Given the description of an element on the screen output the (x, y) to click on. 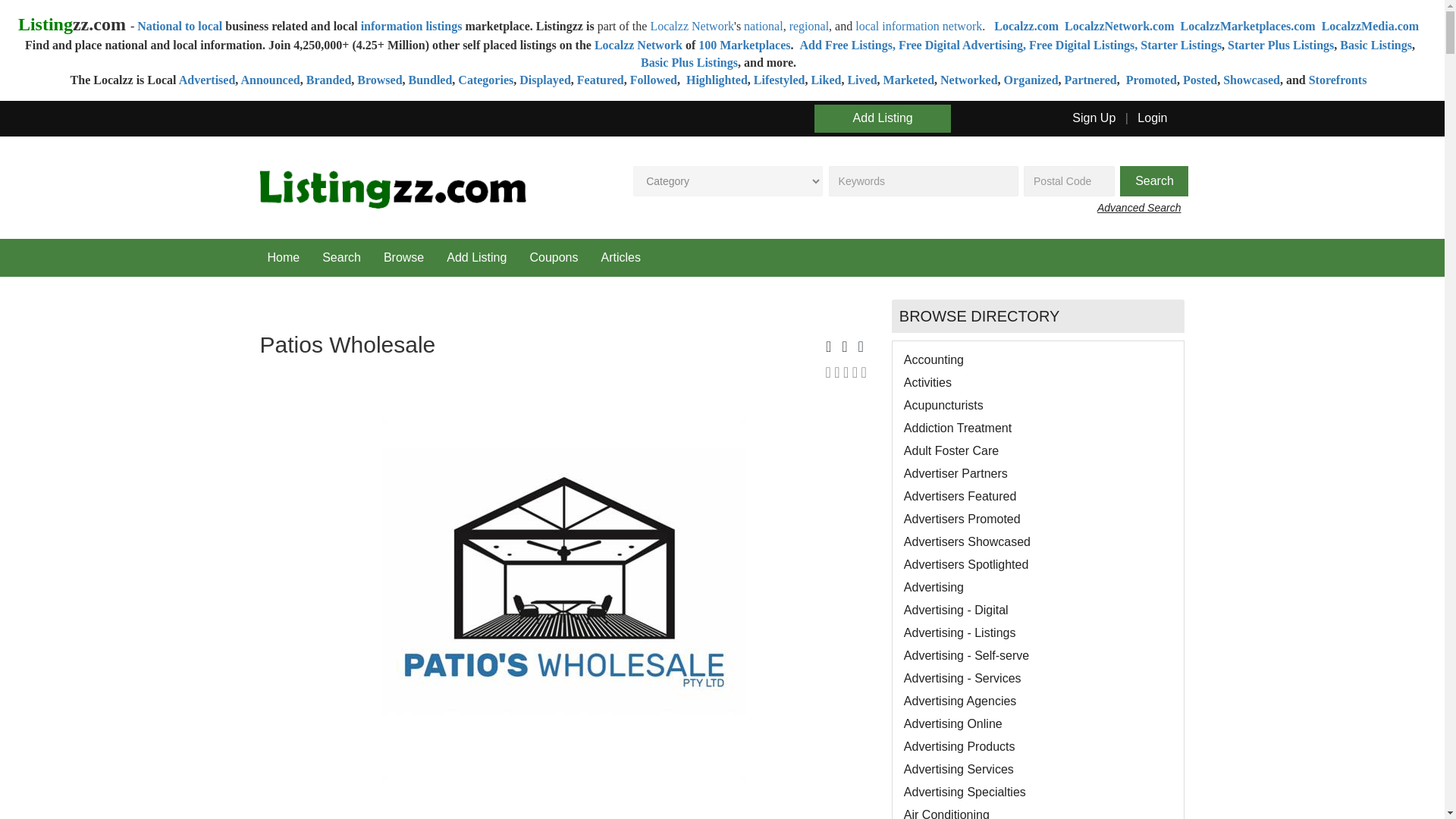
National to local (179, 25)
Localzz.com (1026, 25)
Marketed (908, 79)
Storefronts (1337, 79)
Patios Wholesale (563, 599)
Free Digital Listings, (1083, 44)
Lived (861, 79)
LocalzzMarketplaces.com (1246, 25)
national (763, 25)
Lifestyled (779, 79)
